Given the description of an element on the screen output the (x, y) to click on. 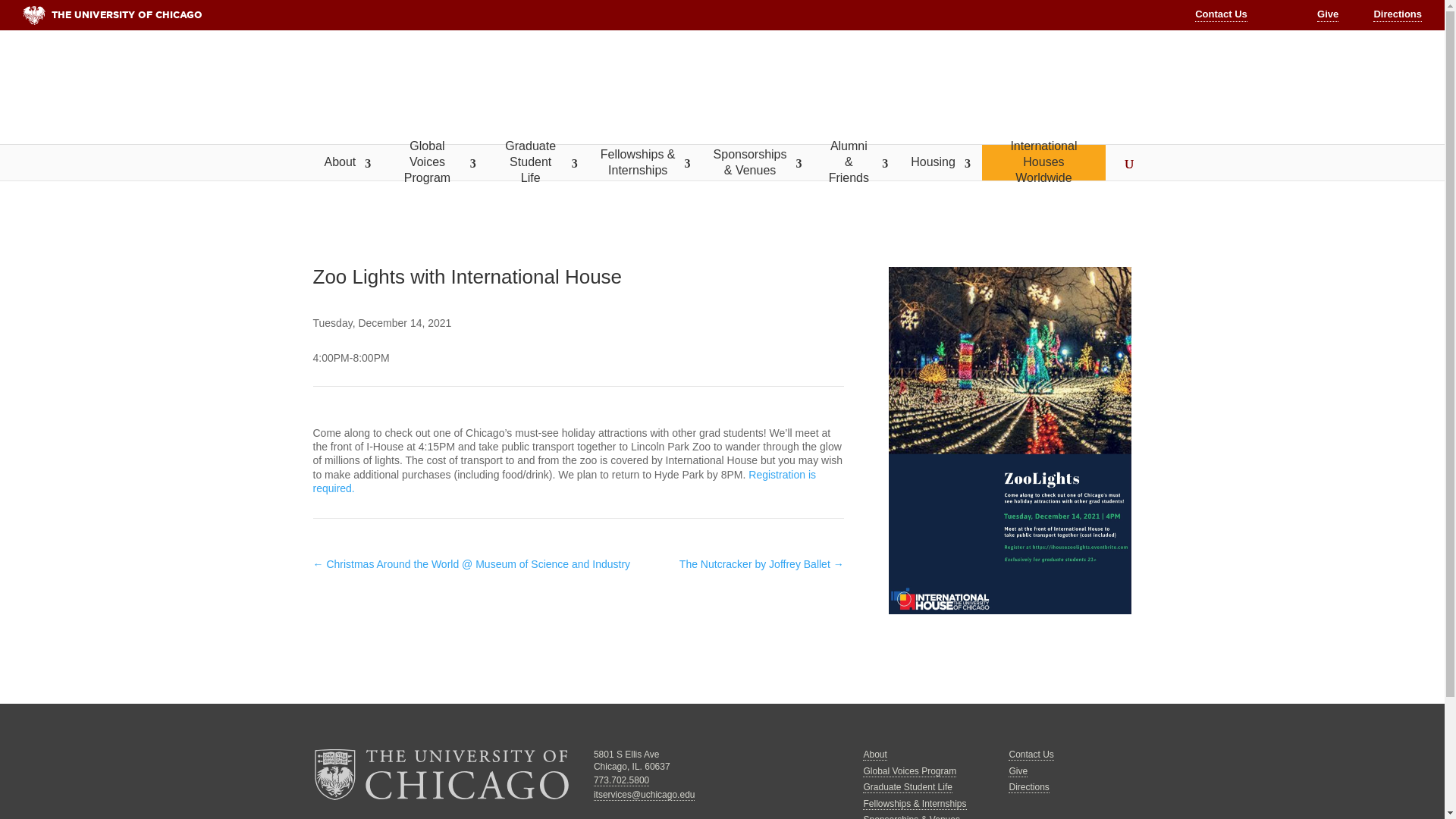
About (347, 162)
THE UNIVERSITY OF CHICAGO (372, 15)
Contact Us (1221, 15)
Global Voices Program (434, 162)
Directions (1397, 15)
Give (1327, 15)
